Given the description of an element on the screen output the (x, y) to click on. 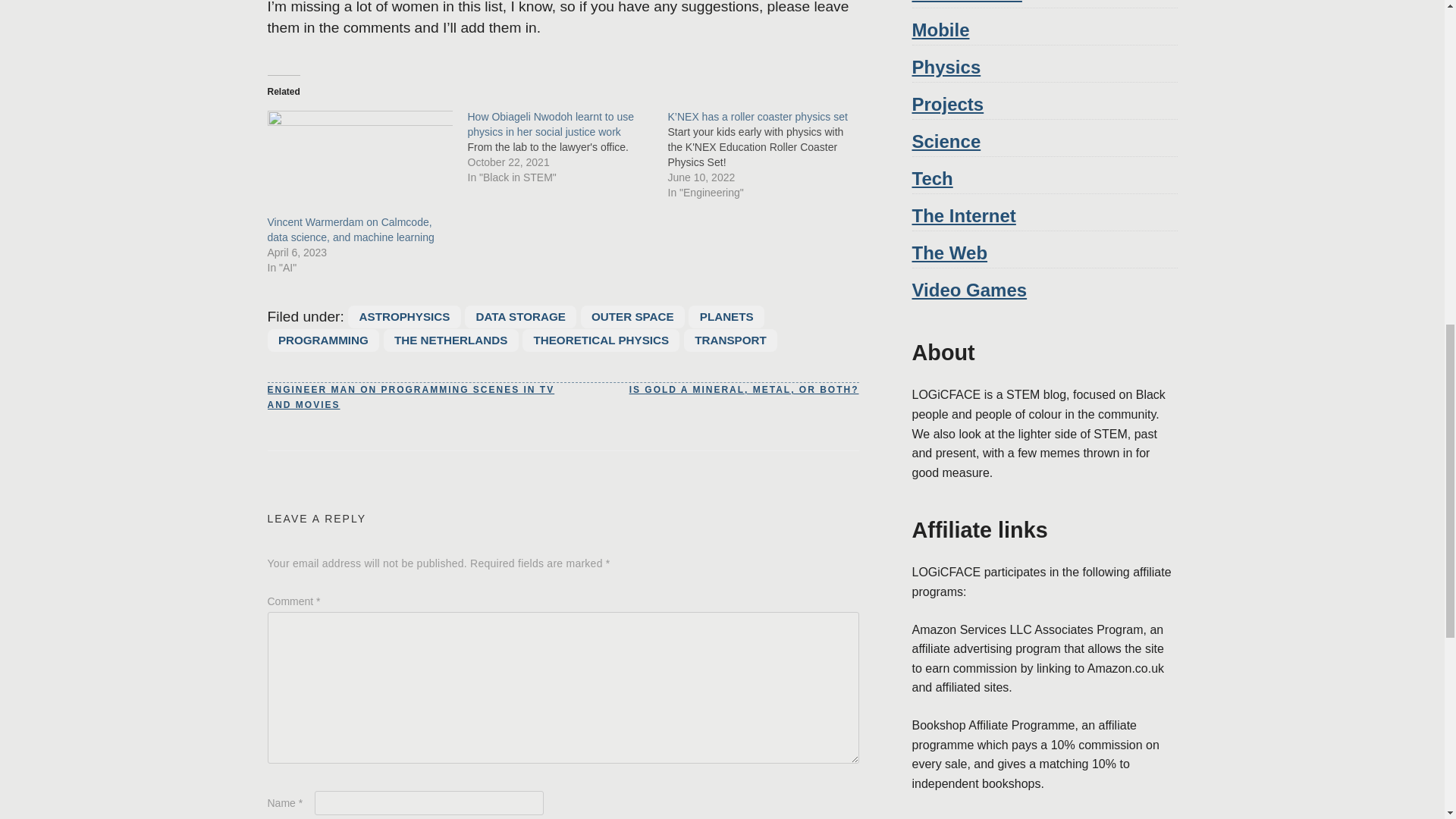
THEORETICAL PHYSICS (600, 340)
OUTER SPACE (632, 316)
THE NETHERLANDS (451, 340)
TRANSPORT (730, 340)
PLANETS (726, 316)
DATA STORAGE (520, 316)
IS GOLD A MINERAL, METAL, OR BOTH? (743, 390)
ENGINEER MAN ON PROGRAMMING SCENES IN TV AND MOVIES (414, 397)
PROGRAMMING (322, 340)
ASTROPHYSICS (404, 316)
